Given the description of an element on the screen output the (x, y) to click on. 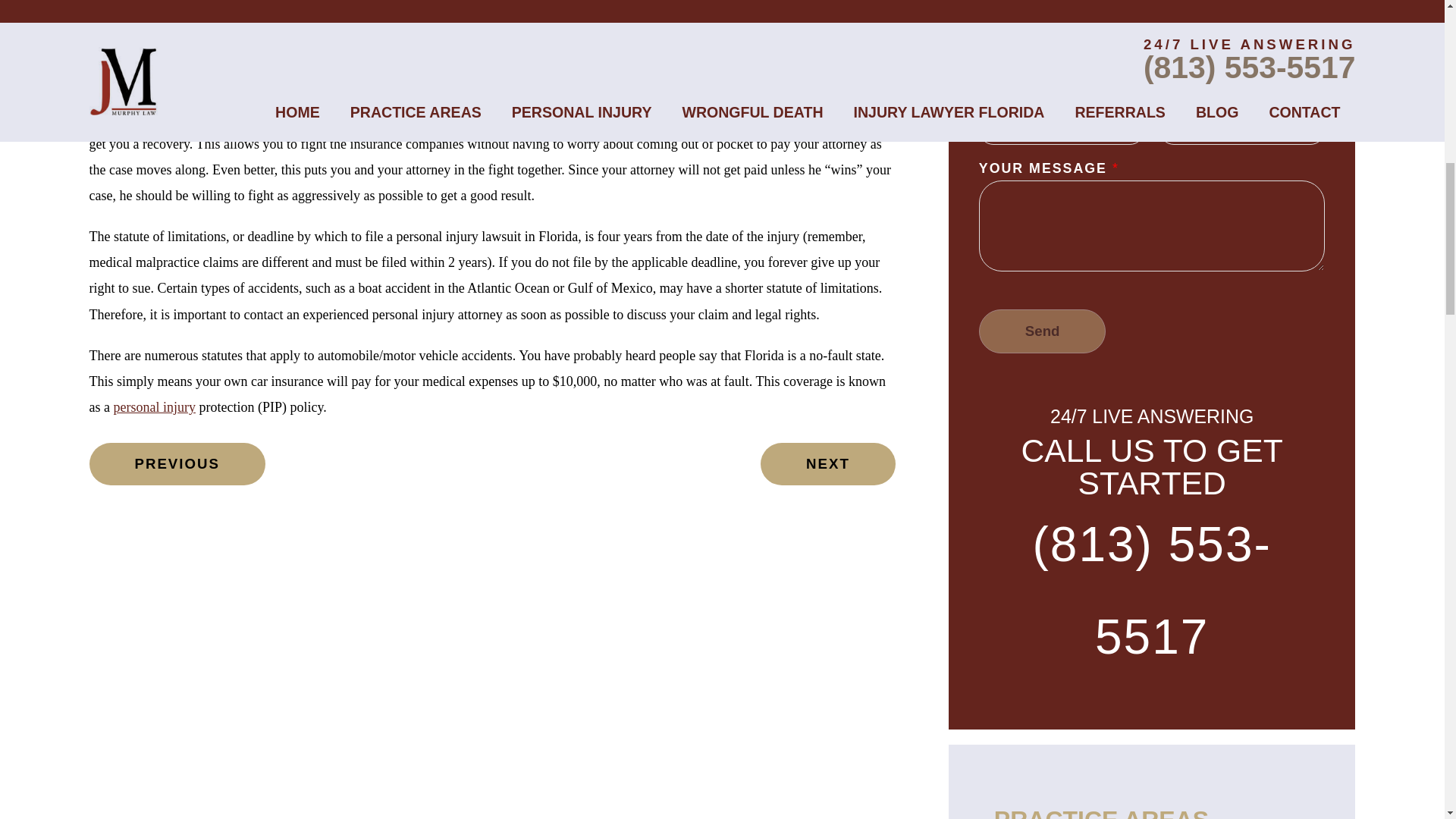
PREVIOUS (176, 463)
personal injury (154, 406)
Send (1042, 330)
NEXT (827, 463)
